Given the description of an element on the screen output the (x, y) to click on. 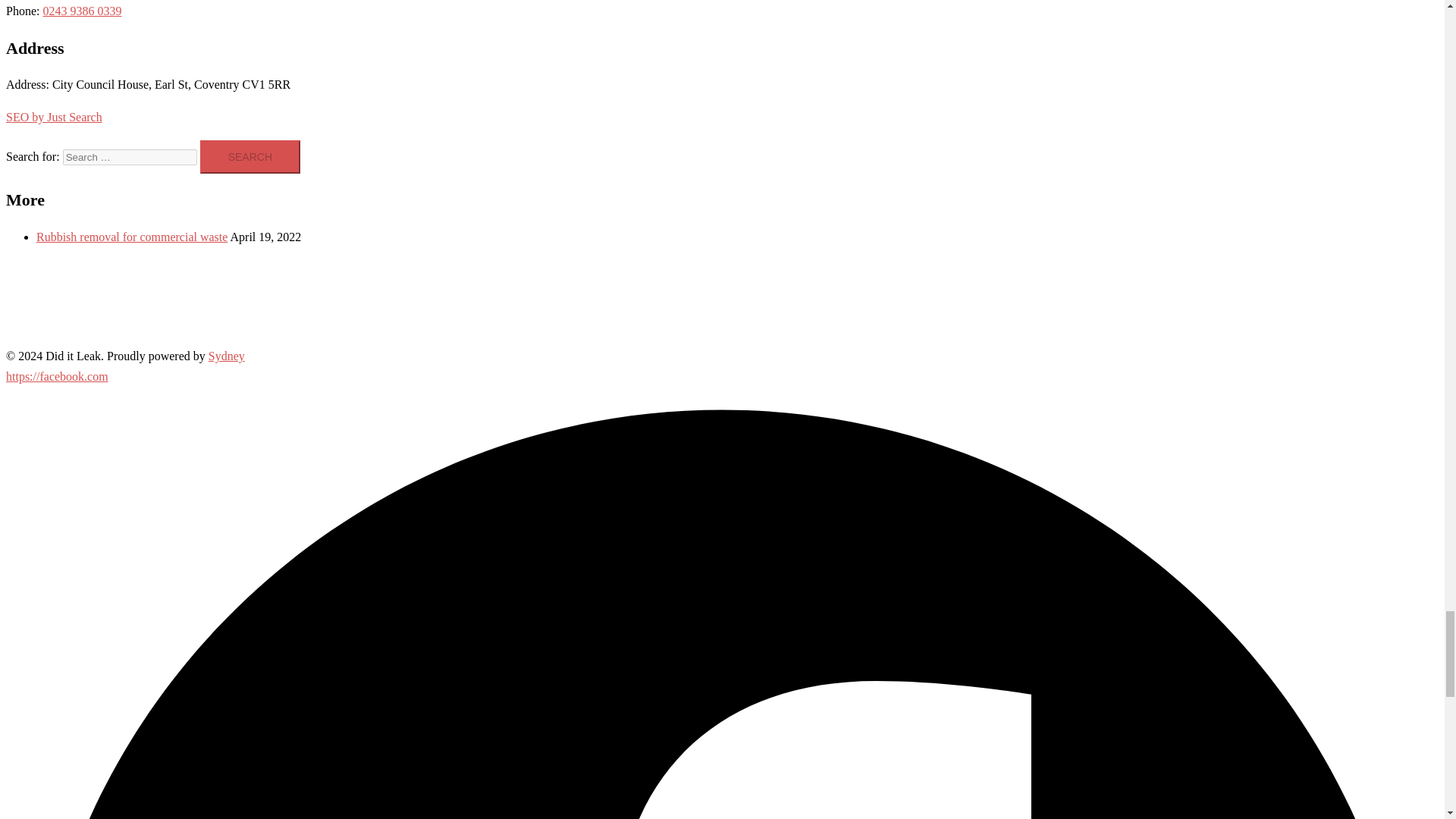
Search (249, 156)
Search (249, 156)
